Given the description of an element on the screen output the (x, y) to click on. 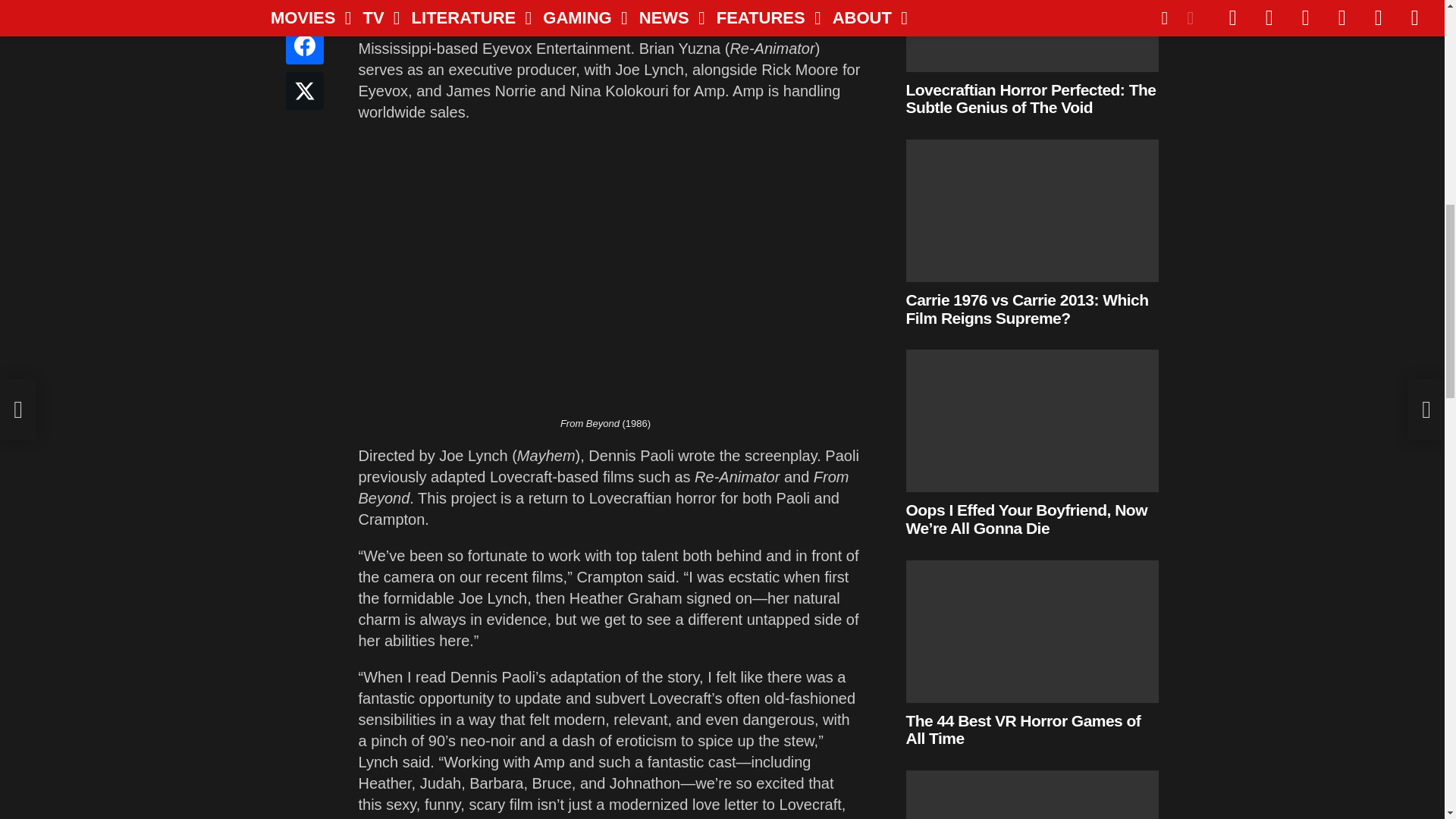
Lovecraftian Horror Perfected: The Subtle Genius of The Void (1031, 36)
The 44 Best VR Horror Games of All Time (1031, 631)
Carrie 1976 vs Carrie 2013: Which Film Reigns Supreme? (1031, 210)
